Given the description of an element on the screen output the (x, y) to click on. 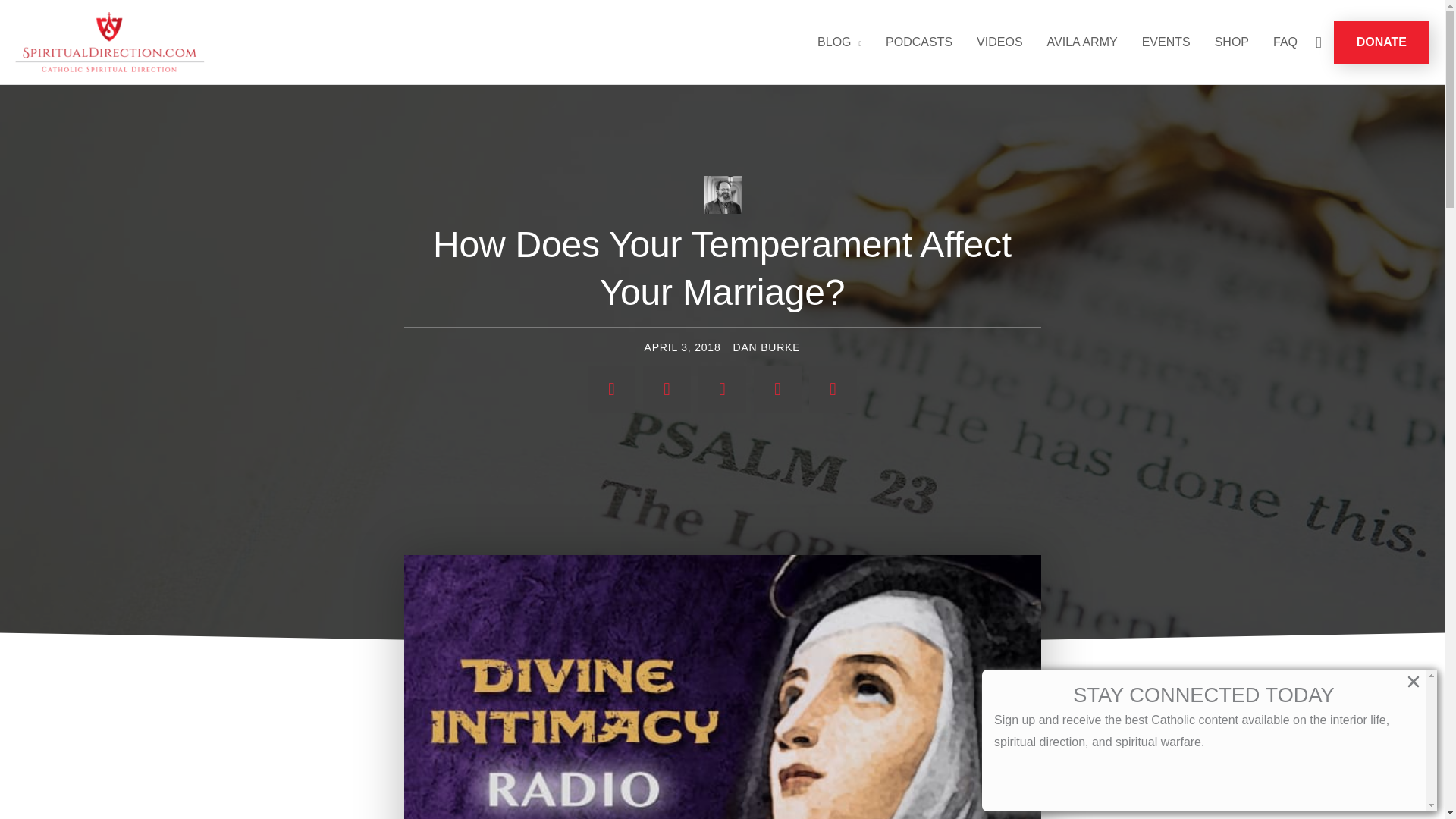
PODCASTS (918, 42)
SHOP (1231, 42)
EVENTS (1165, 42)
AVILA ARMY (1082, 42)
DONATE (1381, 42)
BLOG (839, 42)
VIDEOS (998, 42)
